Given the description of an element on the screen output the (x, y) to click on. 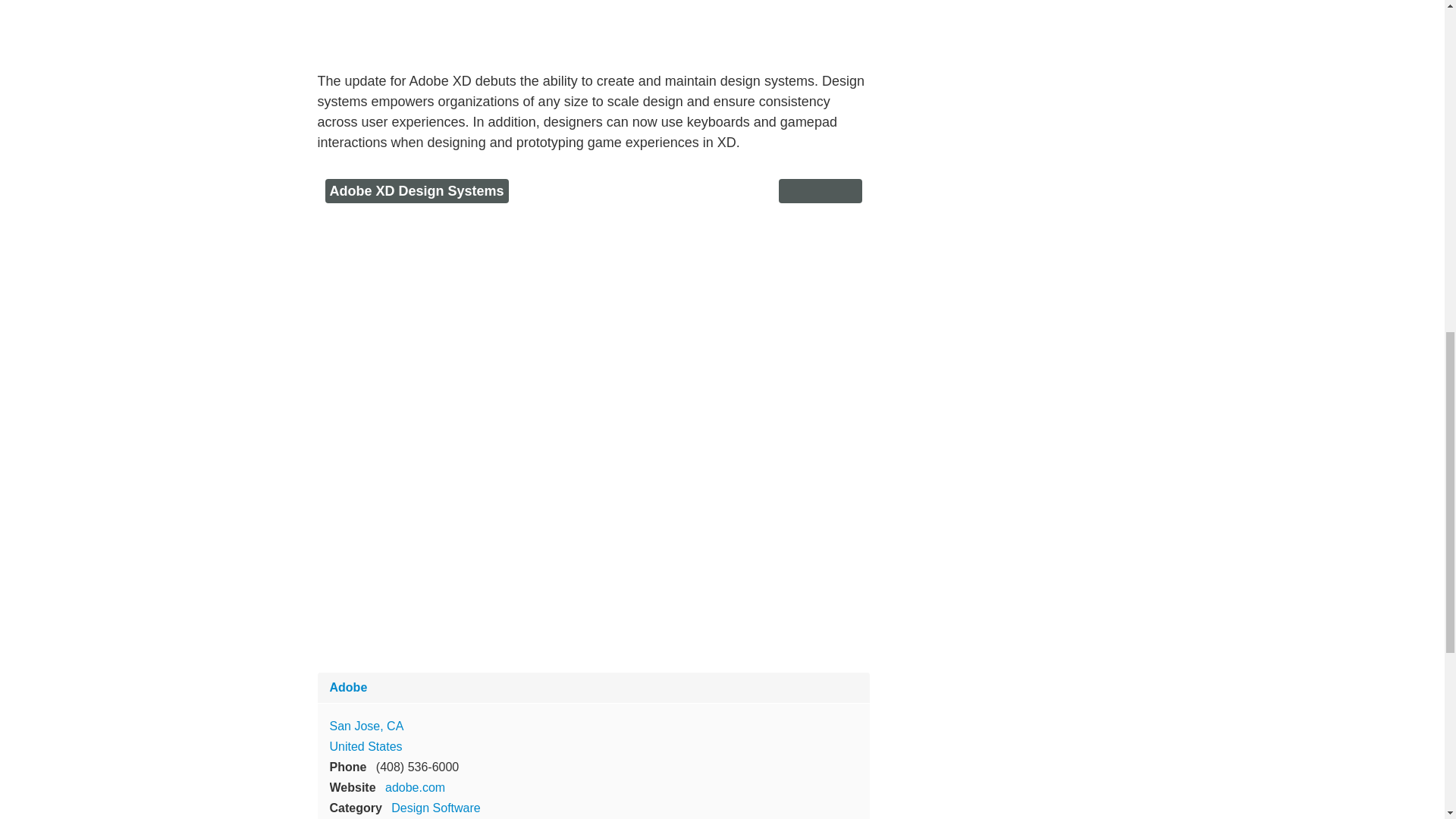
Design Software (435, 807)
View on Map (366, 725)
Adobe XD Design Systems (416, 191)
Lightroom Interactive Tutorials (593, 26)
United States (365, 746)
San Jose, CA (366, 725)
Adobe (347, 686)
adobe.com (415, 787)
